Given the description of an element on the screen output the (x, y) to click on. 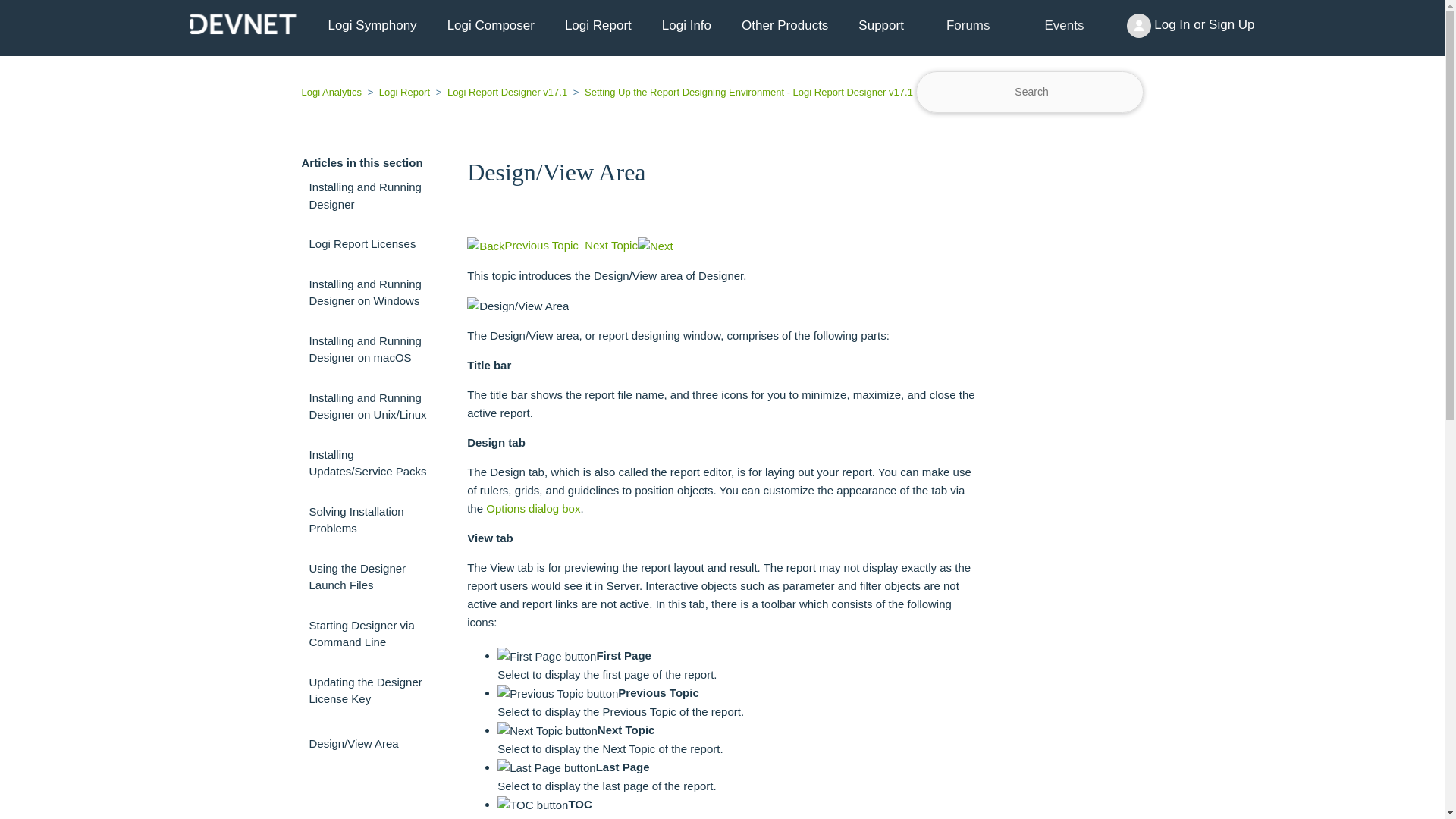
Other Products (784, 25)
Logi Analytics (333, 91)
Logi Symphony (371, 25)
Logi Report (598, 25)
Forums (968, 24)
Logi Report Designer v17.1 (501, 91)
Events (1064, 24)
Forums (967, 25)
Logi Info (686, 25)
Events (1064, 25)
